Given the description of an element on the screen output the (x, y) to click on. 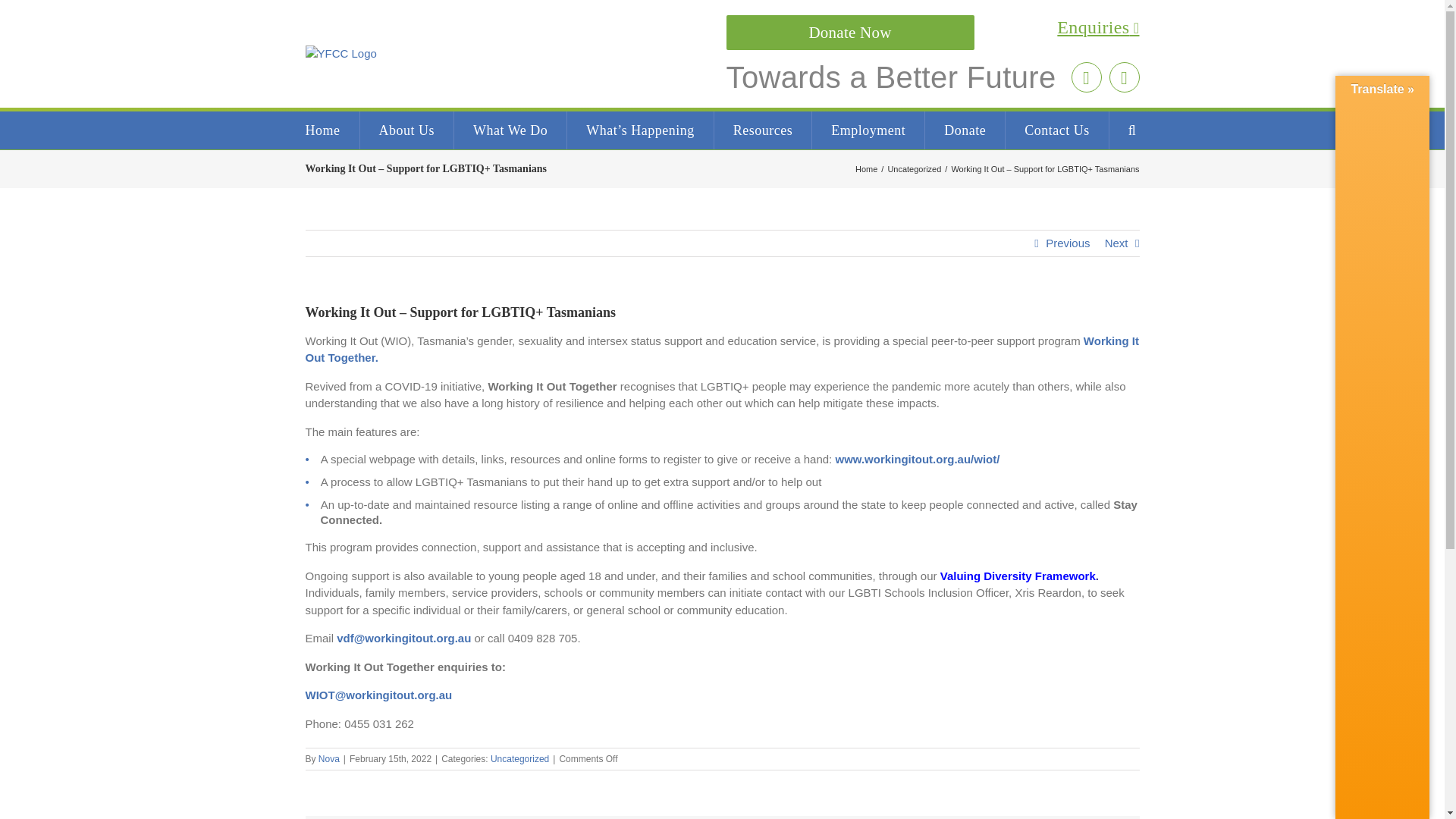
Home (866, 168)
Employment (868, 130)
Contact Us (1057, 130)
Enquiries (933, 27)
Like us on Facebook (1123, 77)
Resources (762, 130)
Follow us on Instagram (1085, 77)
Donate Now (850, 32)
Donate (964, 130)
What We Do (510, 130)
Posts by Nova (328, 758)
Home (321, 130)
Enquiries (933, 27)
Make a Donation (849, 32)
About Us (406, 130)
